Given the description of an element on the screen output the (x, y) to click on. 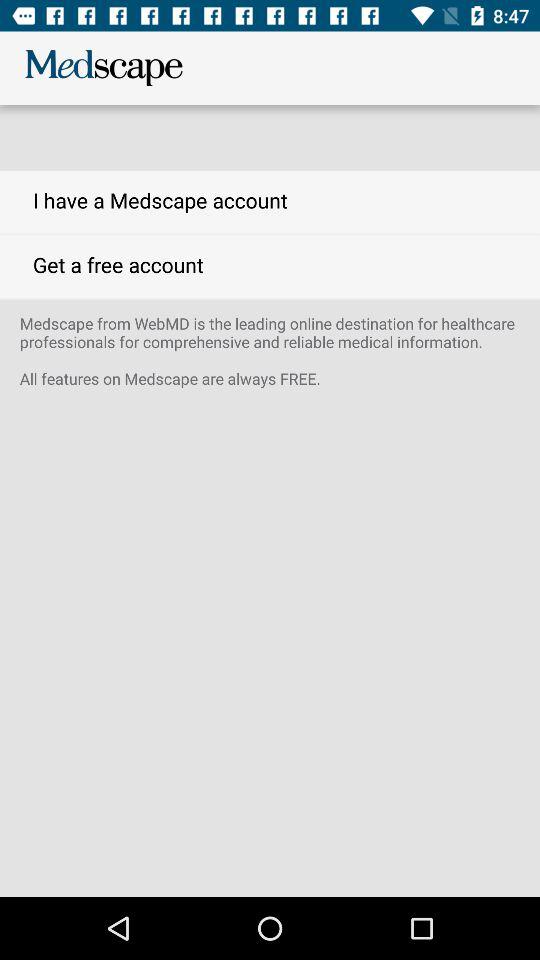
swipe to the get a free item (270, 266)
